Given the description of an element on the screen output the (x, y) to click on. 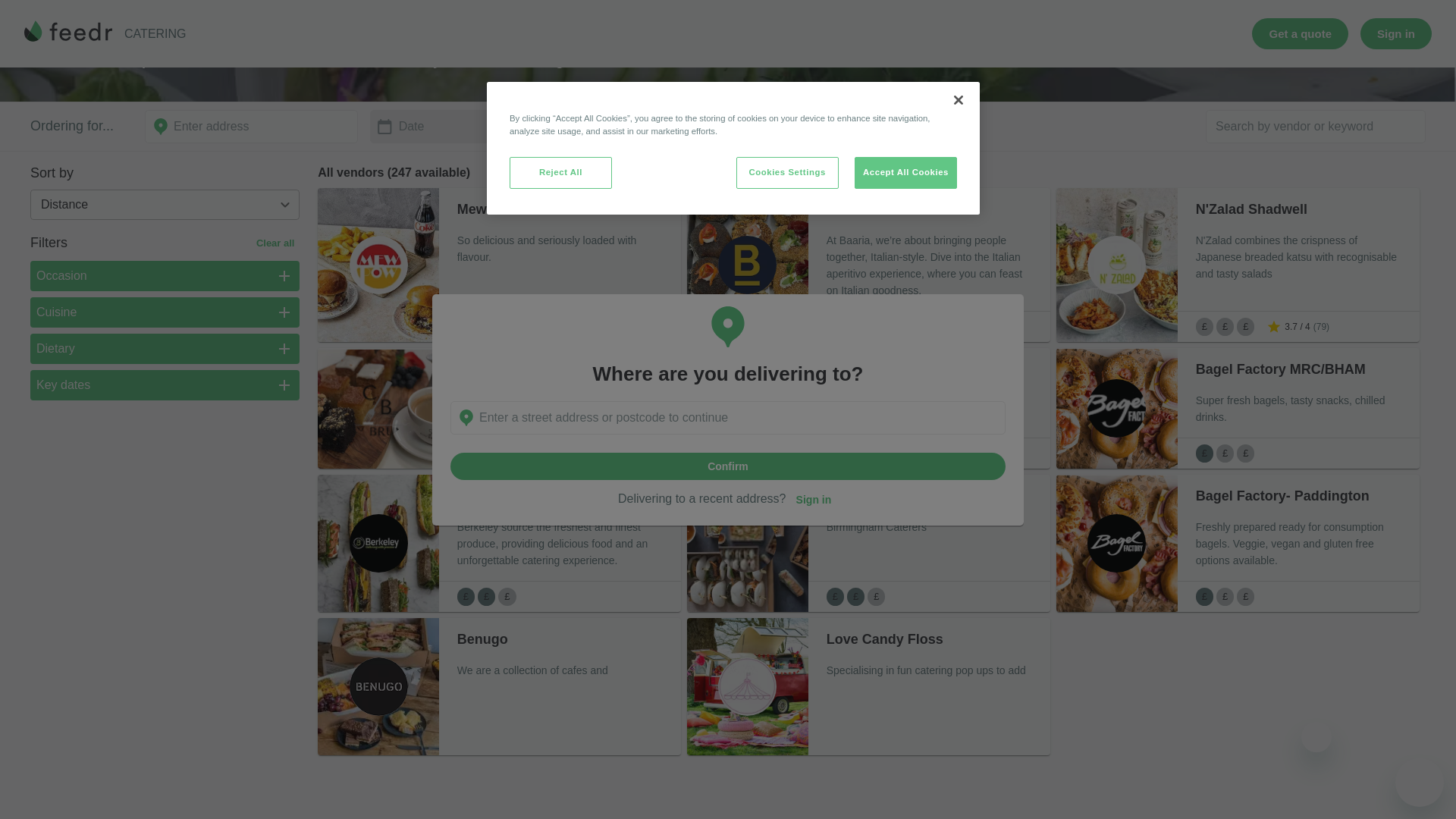
Key dates (164, 385)
Sign in (813, 354)
Cuisine (164, 312)
Occasion (164, 276)
Clear all (274, 242)
Sign in (813, 355)
Cookies Settings (787, 29)
Reject All (560, 29)
Confirm (727, 321)
Dietary (164, 348)
Accept All Cookies (905, 29)
